Given the description of an element on the screen output the (x, y) to click on. 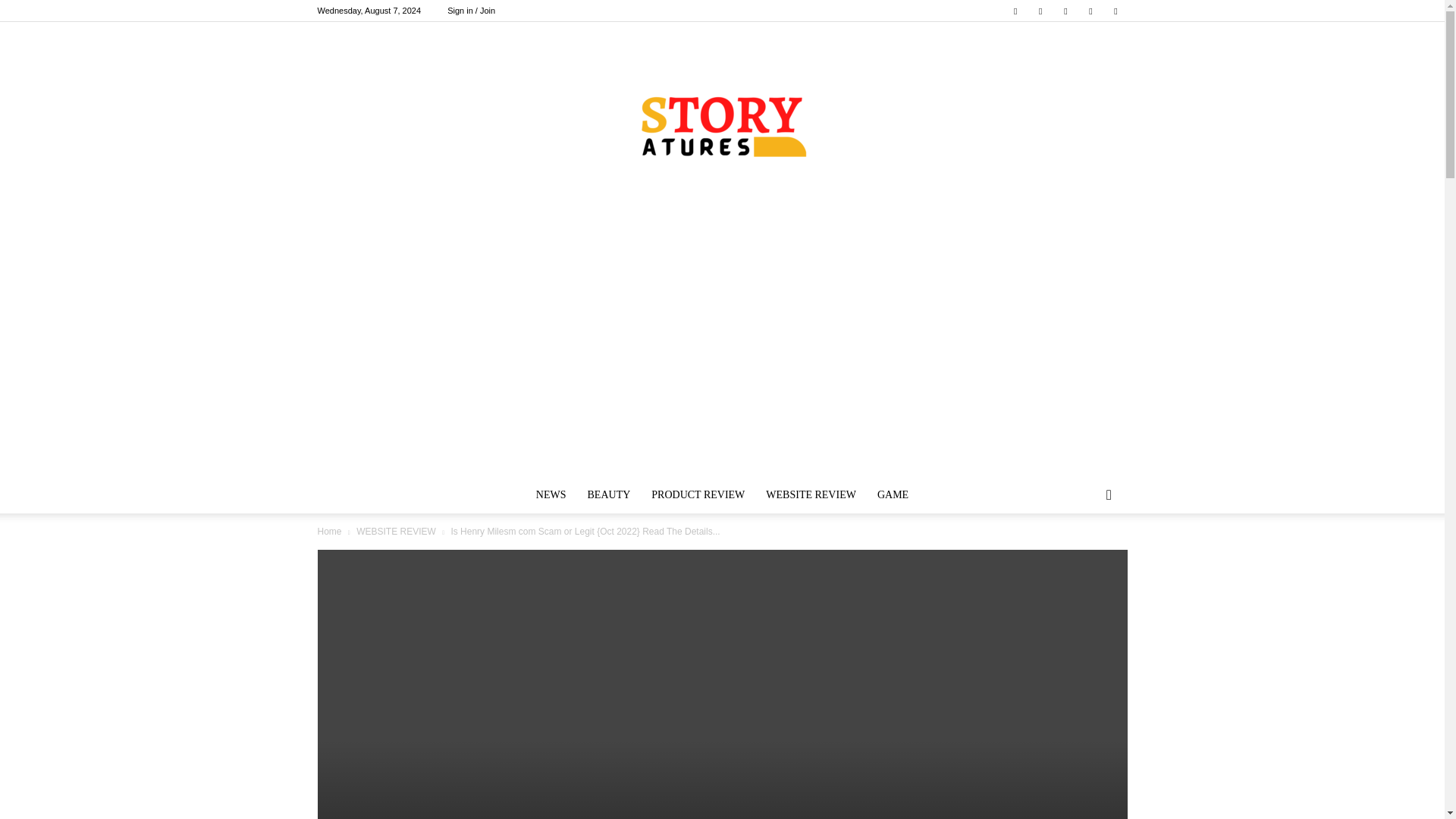
Facebook (1015, 10)
BEAUTY (609, 494)
Twitter (1040, 10)
Home (328, 531)
Search (1085, 555)
Youtube (1114, 10)
WEBSITE REVIEW (810, 494)
VKontakte (1090, 10)
Vimeo (1065, 10)
View all posts in WEBSITE REVIEW (395, 531)
